Given the description of an element on the screen output the (x, y) to click on. 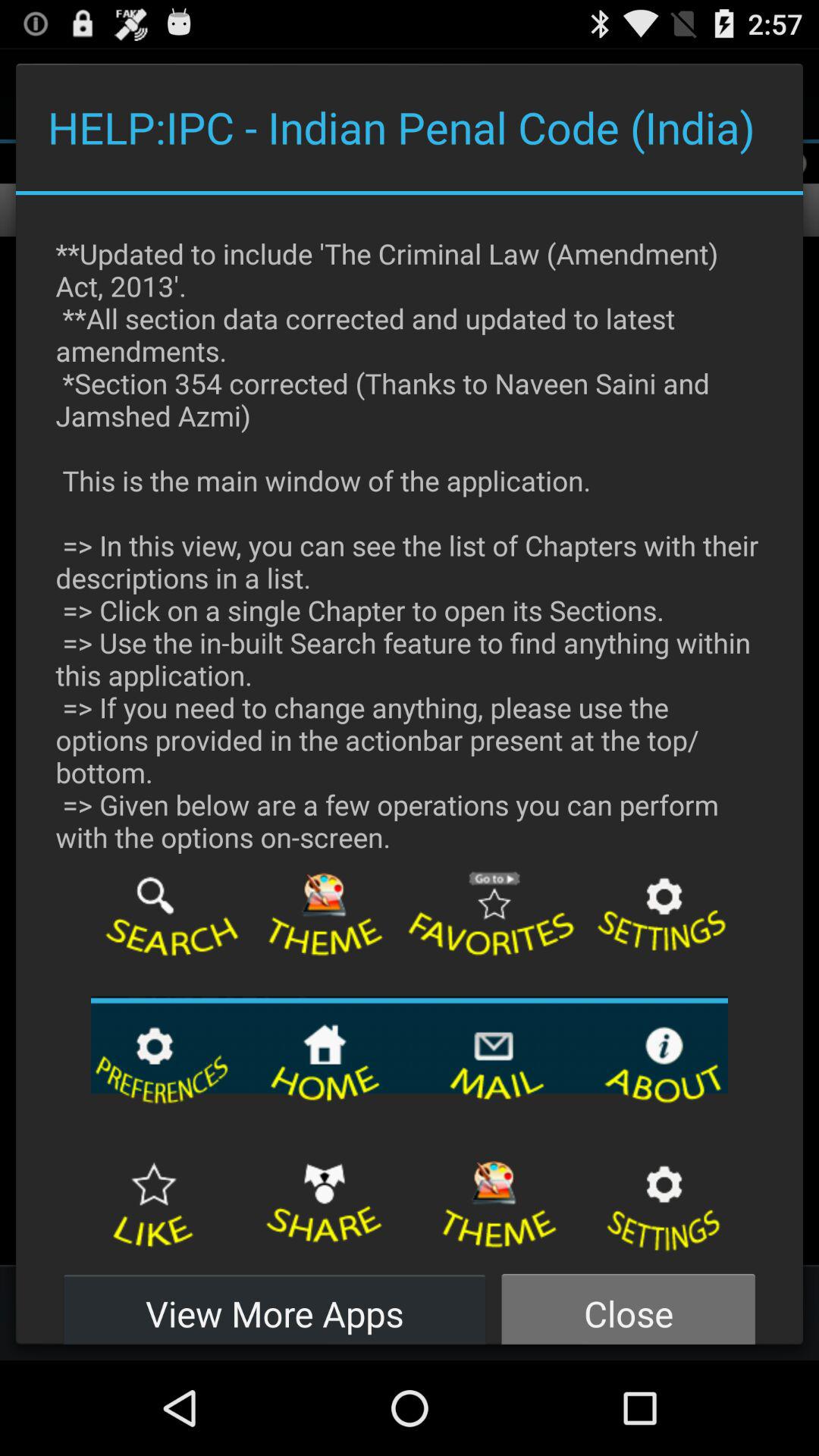
swipe to close item (628, 1305)
